Given the description of an element on the screen output the (x, y) to click on. 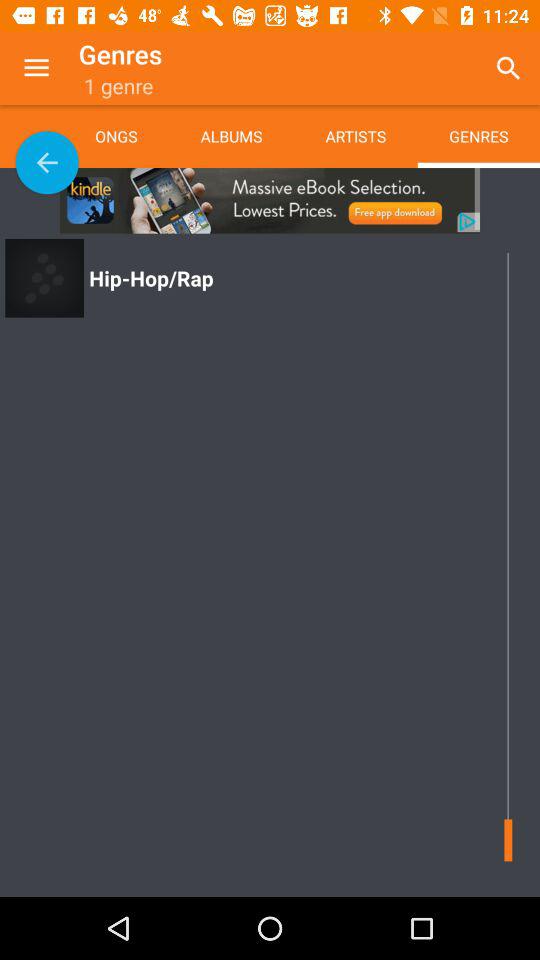
tap icon next to the albums app (355, 136)
